Given the description of an element on the screen output the (x, y) to click on. 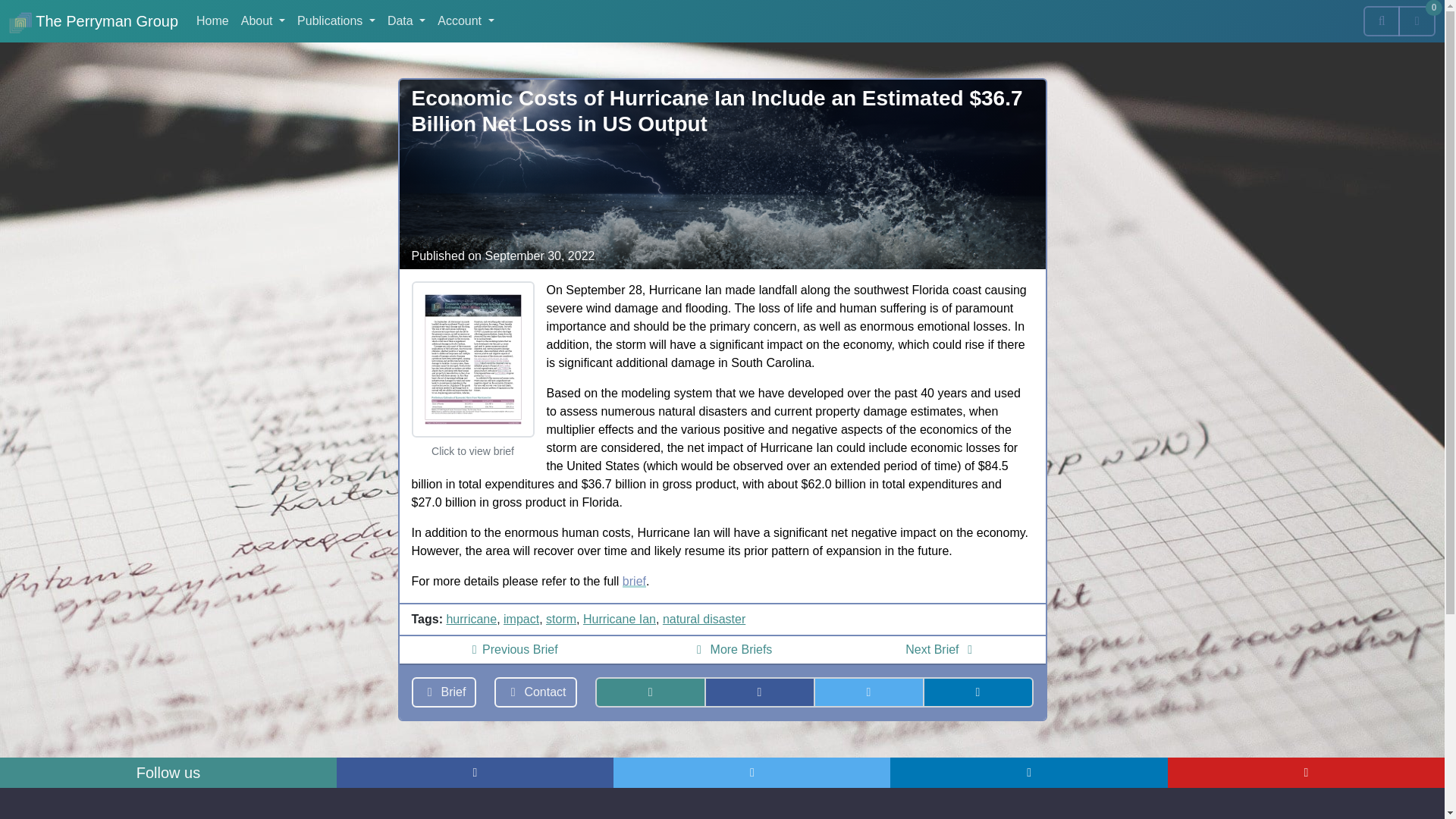
More Briefs (732, 649)
storm (561, 618)
Publications (336, 20)
Contact (535, 692)
Next Brief (941, 649)
About (262, 20)
brief (634, 581)
Hurricane Ian (619, 618)
Brief (443, 692)
0 (1416, 20)
